Given the description of an element on the screen output the (x, y) to click on. 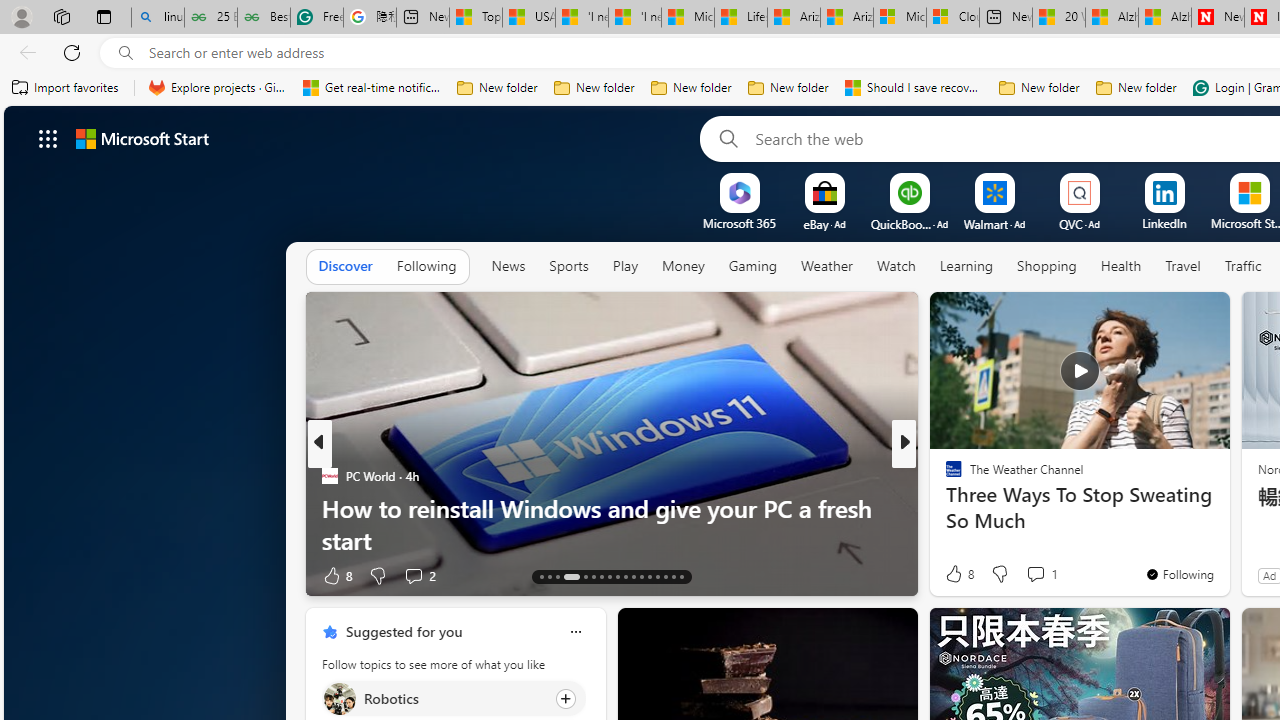
View comments 3 Comment (1048, 574)
linux basic - Search (157, 17)
Traffic (1242, 267)
147 Like (959, 574)
Newsweek - News, Analysis, Politics, Business, Technology (1217, 17)
Health (1121, 265)
CNET (944, 507)
App launcher (47, 138)
25 Basic Linux Commands For Beginners - GeeksforGeeks (210, 17)
AutomationID: tab-21 (617, 576)
AutomationID: tab-25 (649, 576)
68 Like (956, 574)
To get missing image descriptions, open the context menu. (739, 192)
61 Like (956, 574)
